Given the description of an element on the screen output the (x, y) to click on. 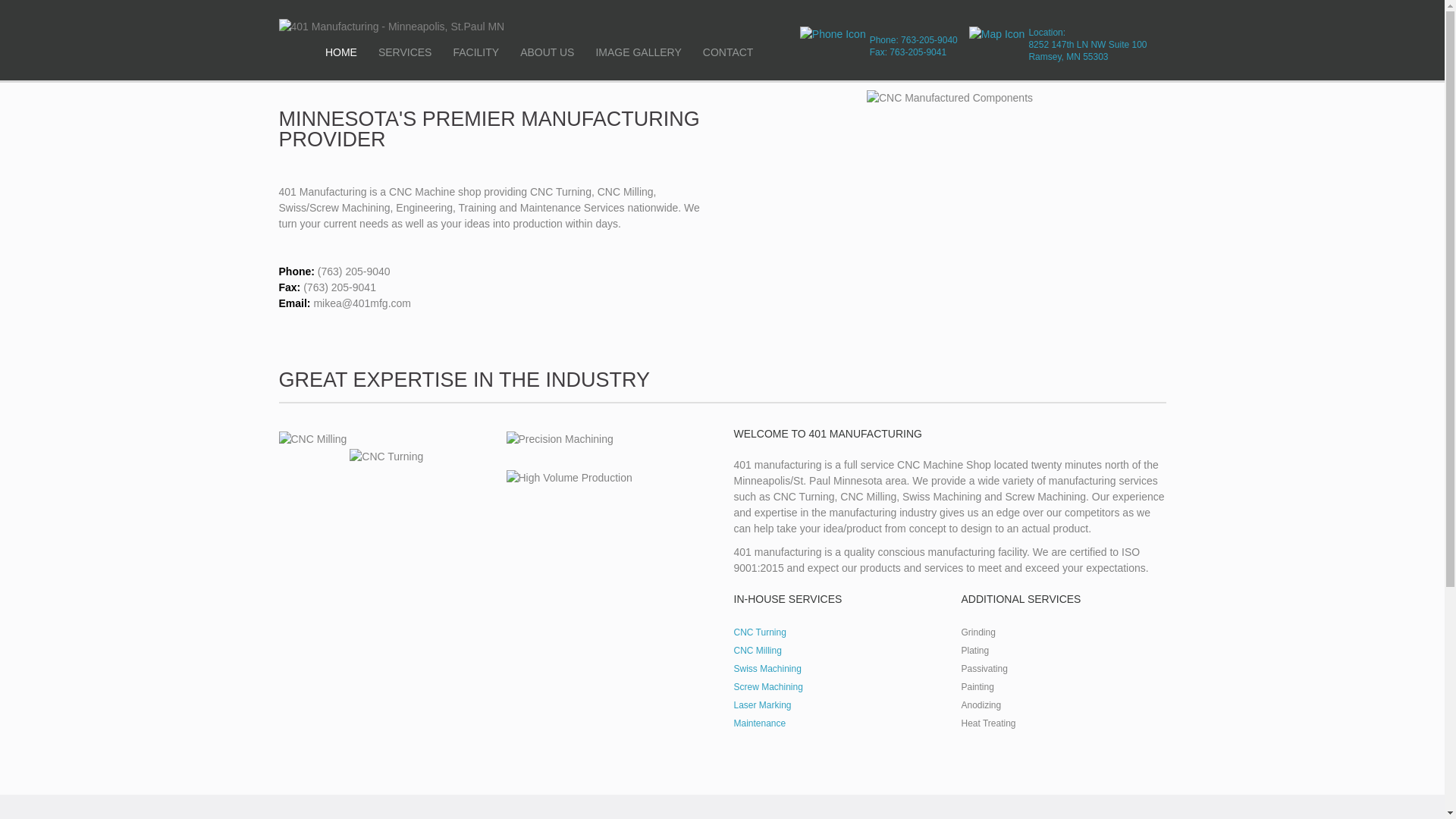
CNC Milling Element type: text (757, 650)
IMAGE GALLERY Element type: text (637, 51)
FACILITY Element type: text (475, 51)
763-205-9040 Element type: text (928, 39)
HOME Element type: text (341, 51)
Screw Machining Element type: text (768, 686)
(763) 205-9040 Element type: text (353, 271)
SERVICES Element type: text (405, 51)
Swiss Machining Element type: text (767, 668)
mikea@401mfg.com Element type: text (362, 303)
Laser Marking Element type: text (762, 704)
CONTACT Element type: text (727, 51)
ABOUT US Element type: text (547, 51)
CNC Turning Element type: text (760, 632)
Maintenance Element type: text (760, 723)
